Given the description of an element on the screen output the (x, y) to click on. 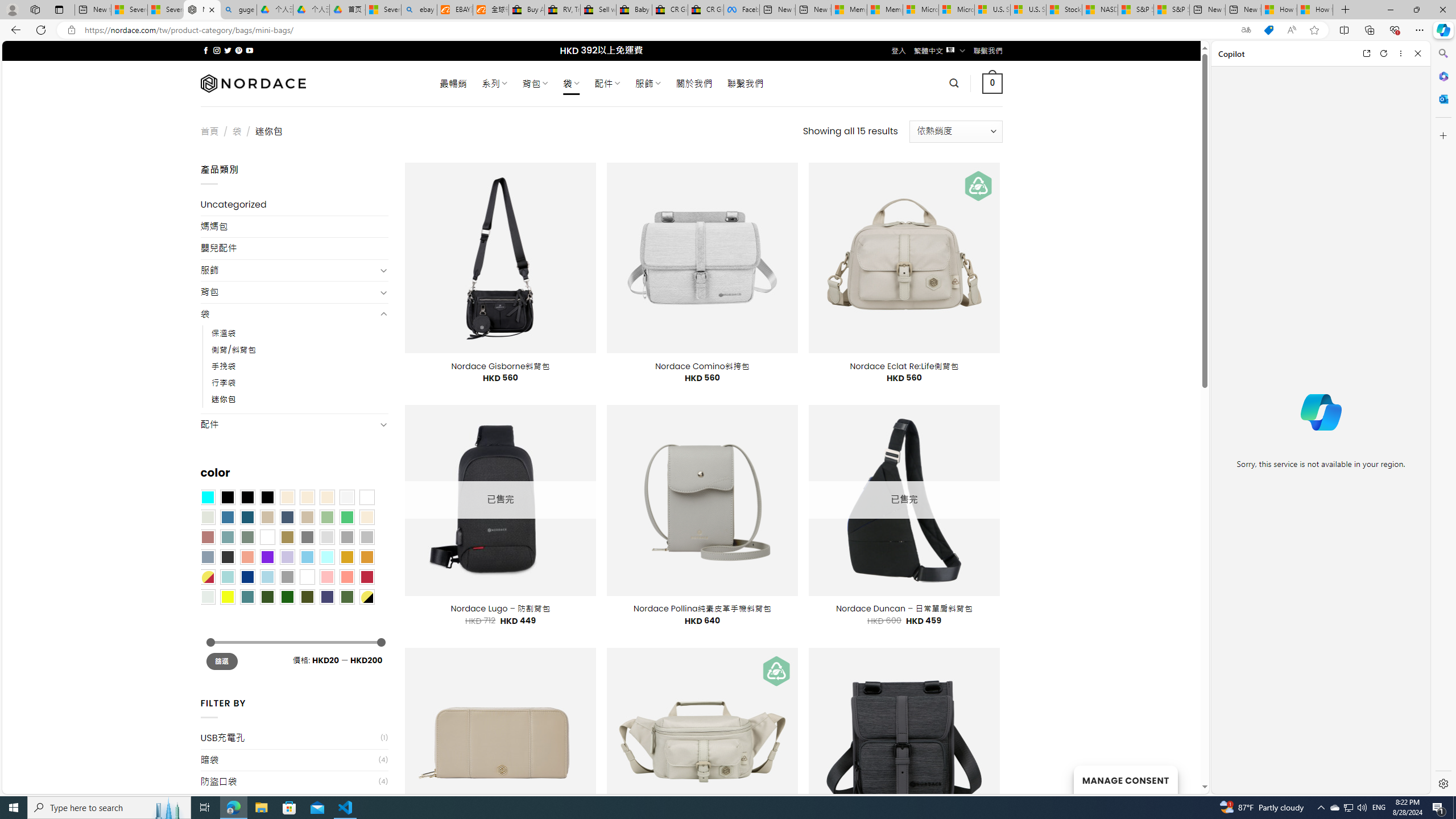
Facebook (741, 9)
 0  (992, 83)
